Given the description of an element on the screen output the (x, y) to click on. 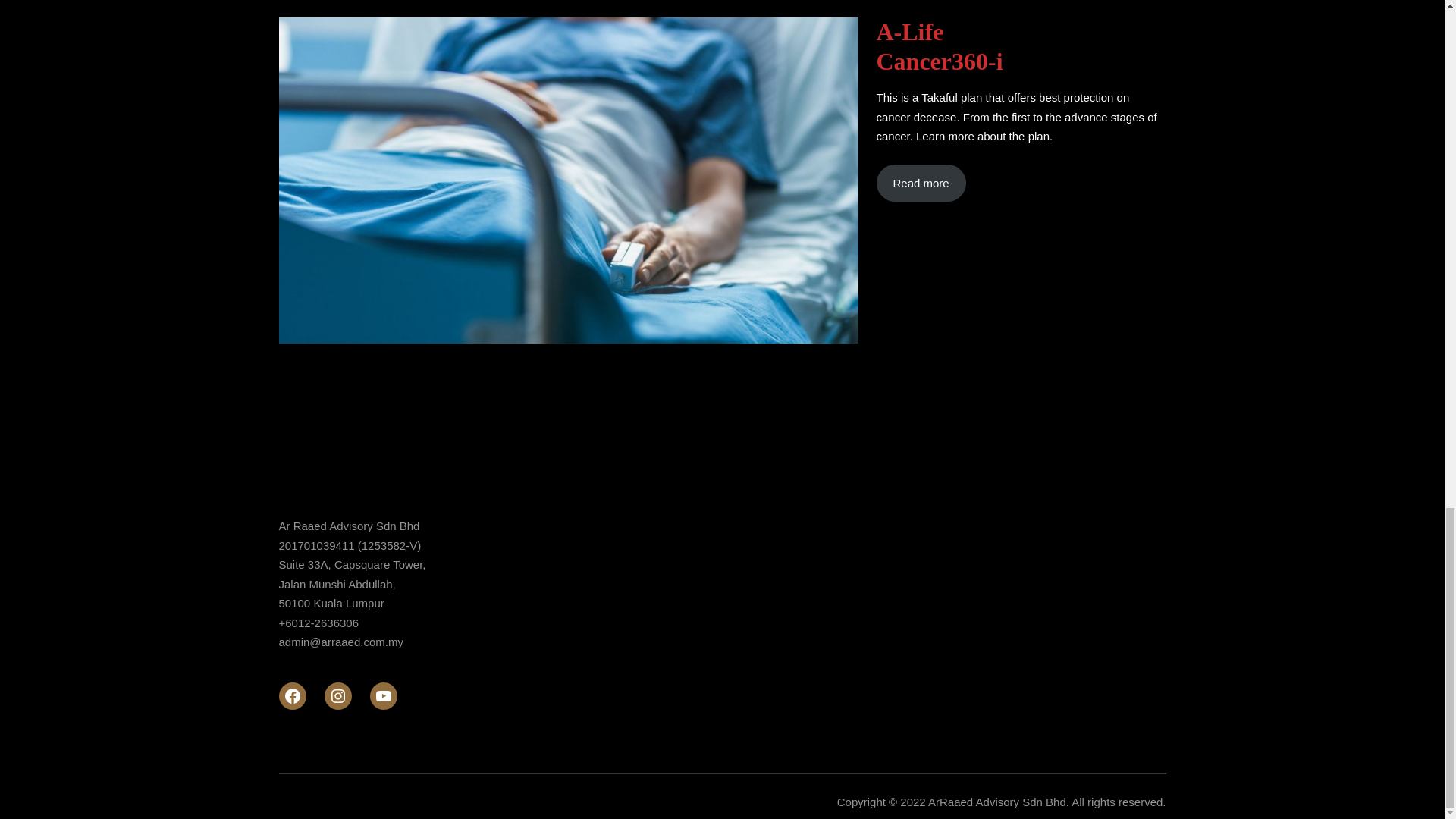
Read more (921, 183)
